Given the description of an element on the screen output the (x, y) to click on. 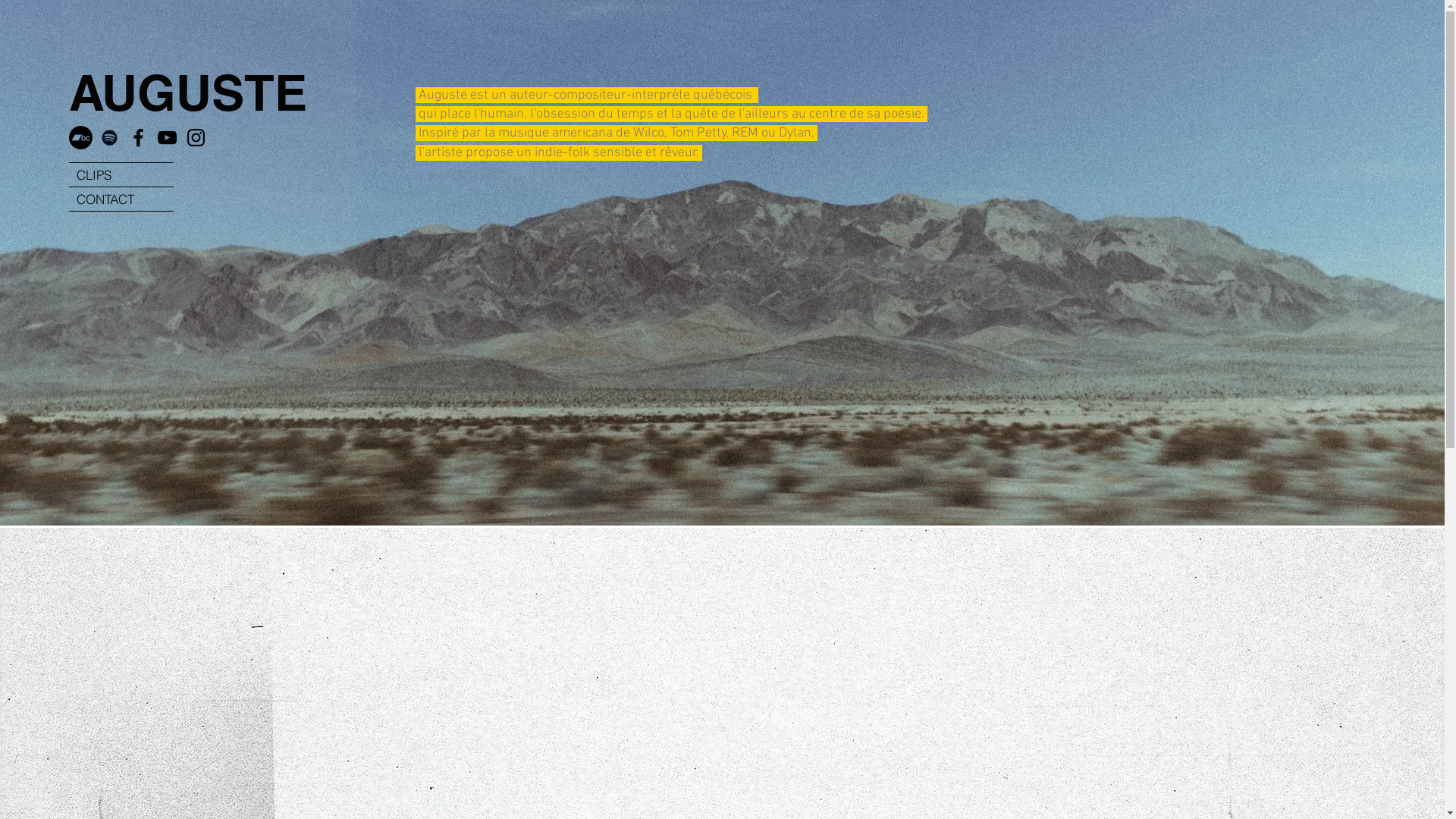
Embedded Content Element type: hover (633, 351)
CONTACT Element type: text (120, 198)
CLIPS Element type: text (120, 173)
Embedded Content Element type: hover (456, 351)
Embedded Content Element type: hover (991, 348)
Embedded Content Element type: hover (816, 348)
AUGUSTE Element type: text (187, 92)
